Given the description of an element on the screen output the (x, y) to click on. 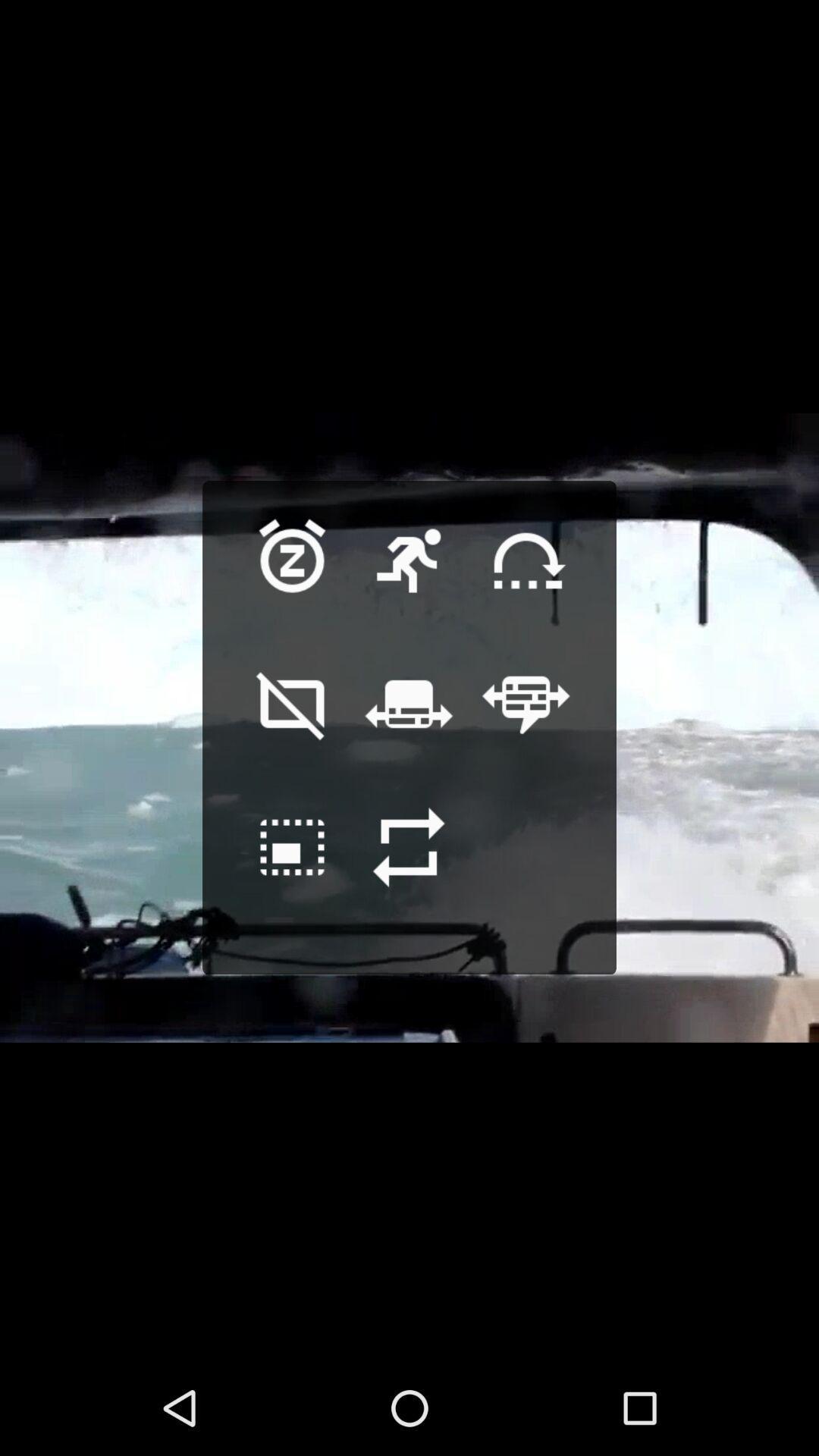
go back (292, 870)
